Given the description of an element on the screen output the (x, y) to click on. 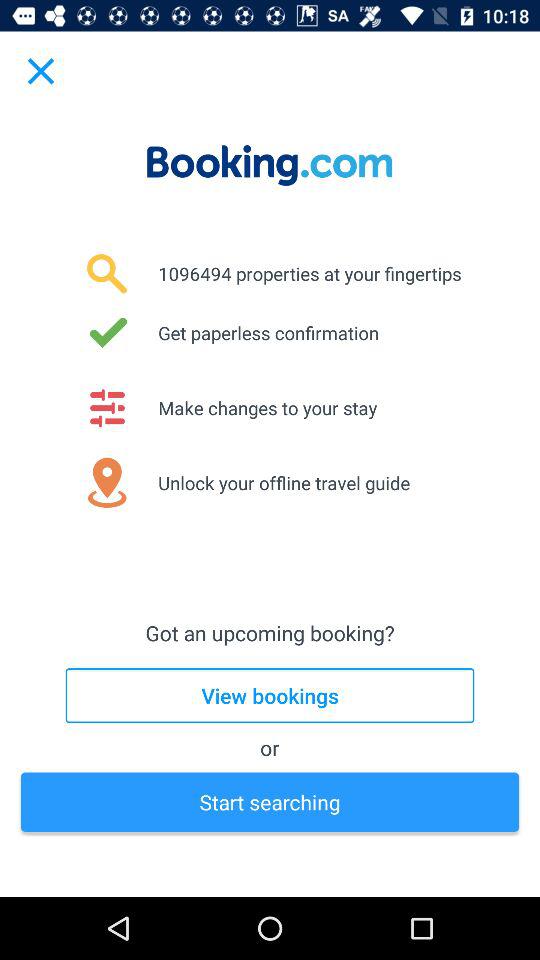
turn on icon above or (269, 695)
